Given the description of an element on the screen output the (x, y) to click on. 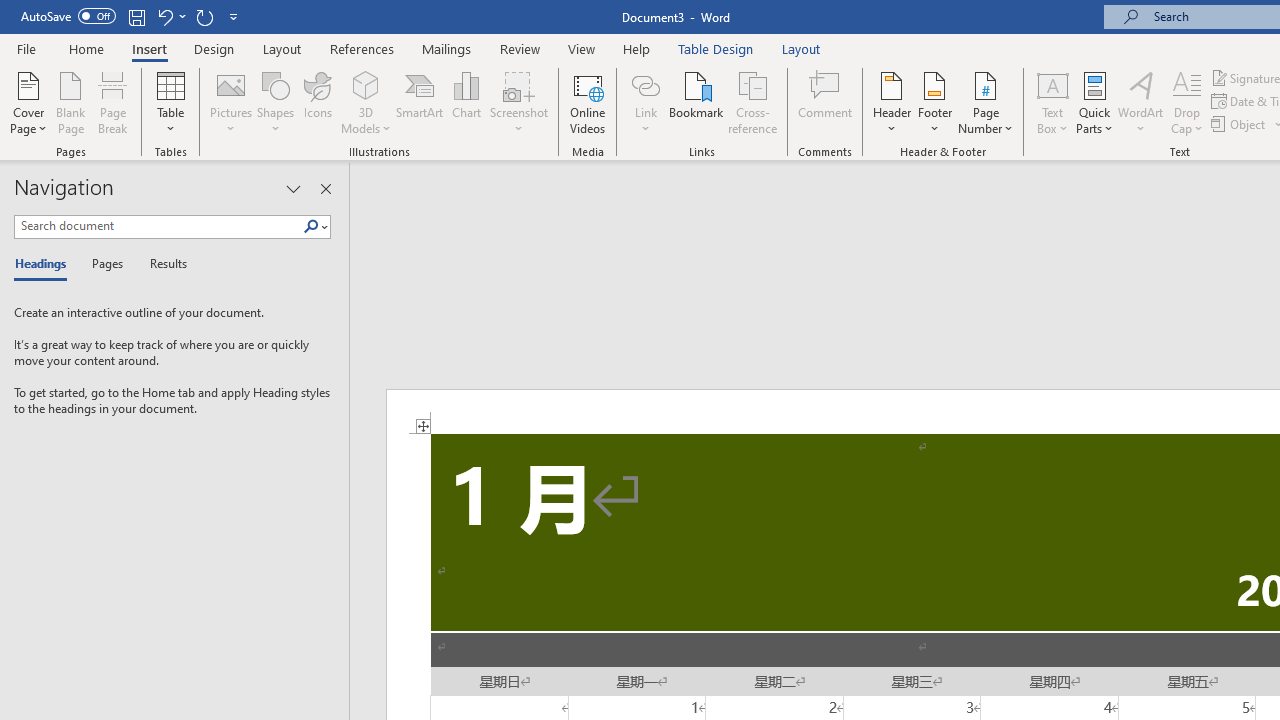
Header (891, 102)
Cross-reference... (752, 102)
Cover Page (28, 102)
Drop Cap (1187, 102)
Table (170, 102)
Page Number (986, 102)
